Given the description of an element on the screen output the (x, y) to click on. 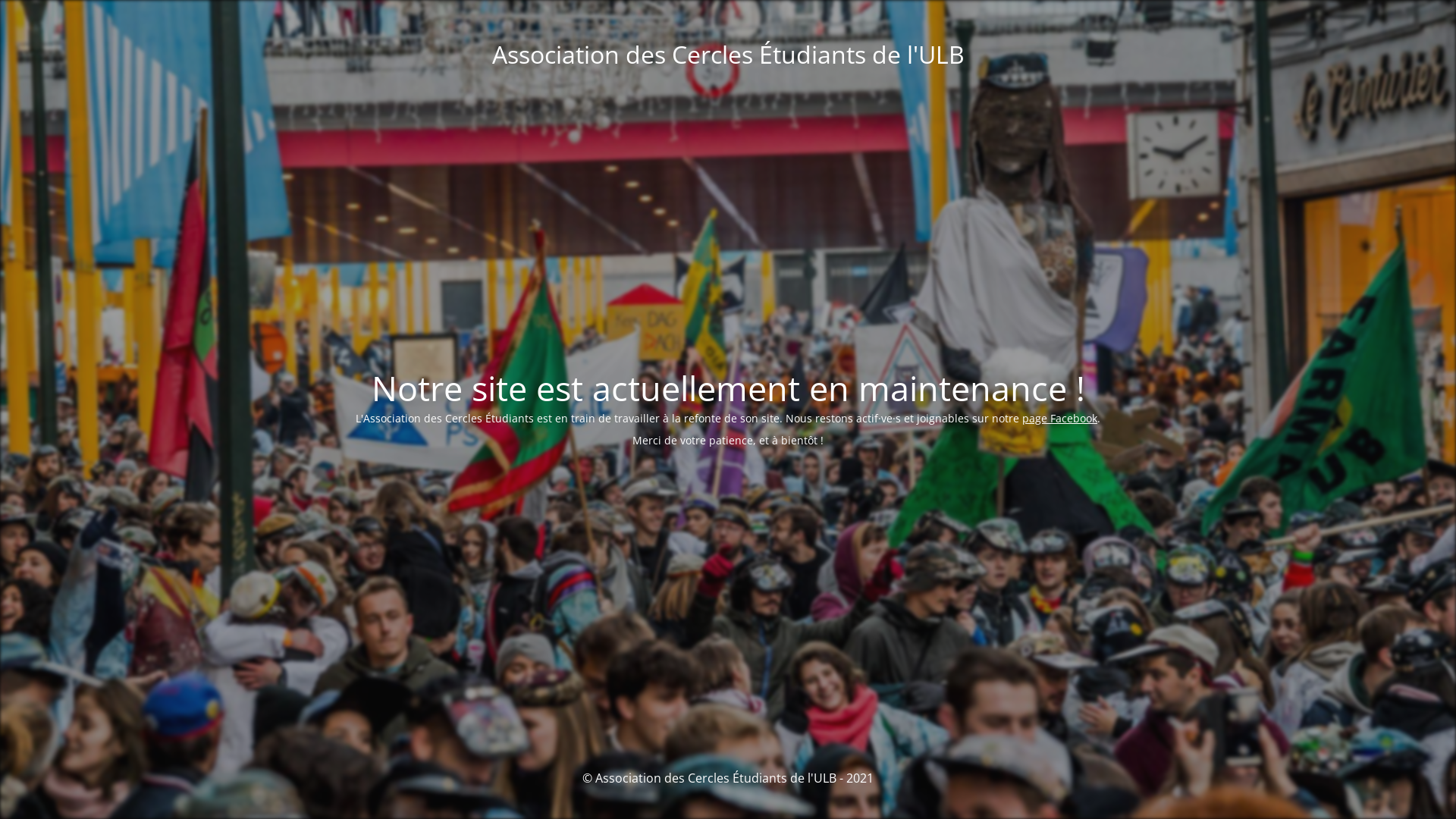
page Facebook Element type: text (1059, 418)
